Given the description of an element on the screen output the (x, y) to click on. 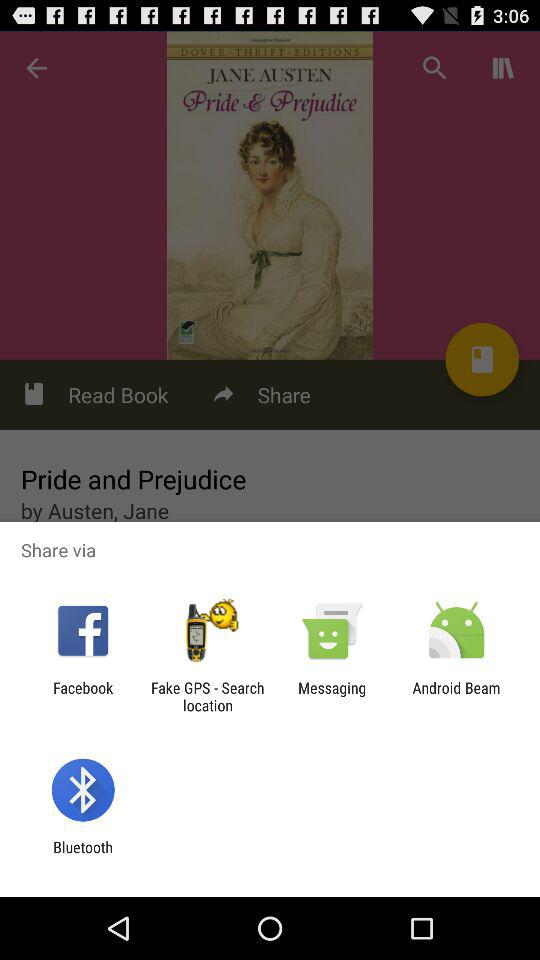
open the app next to fake gps search item (332, 696)
